Given the description of an element on the screen output the (x, y) to click on. 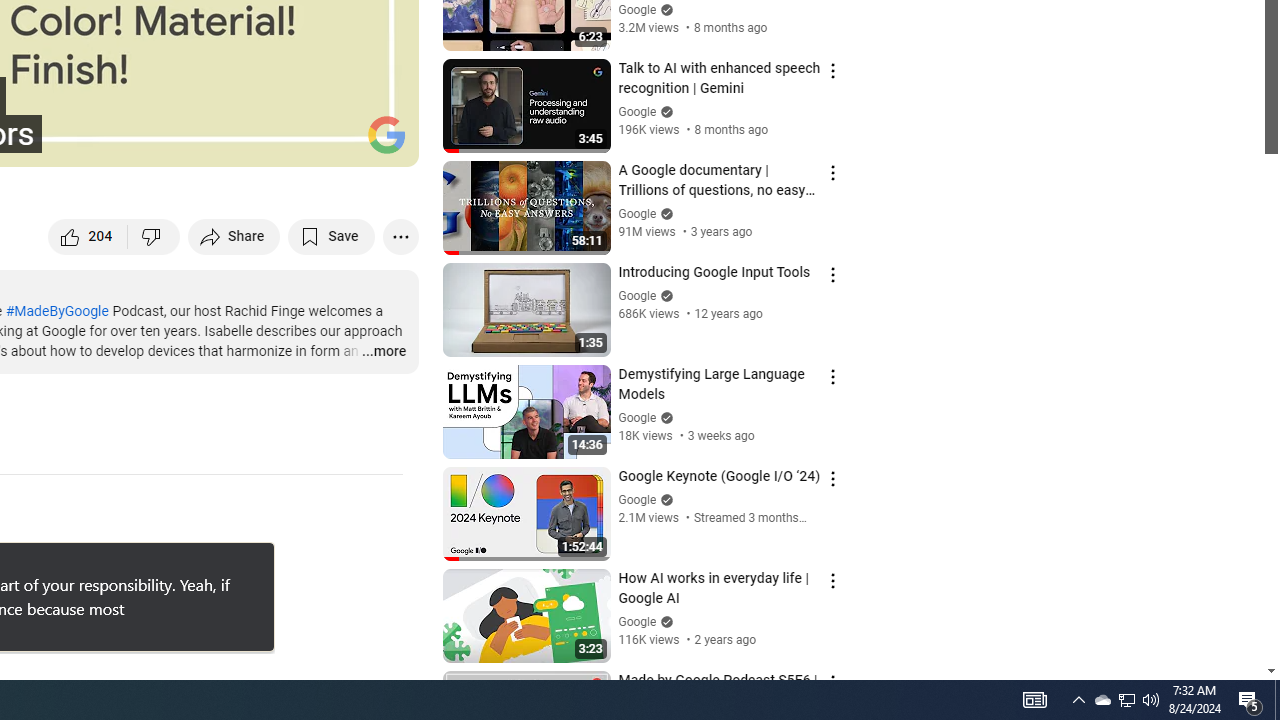
Turn off Live Caption for now (255, 560)
#MadeByGoogle (56, 311)
Share (1126, 699)
Subtitles/closed captions unavailable (234, 236)
User Promoted Notification Area (190, 142)
like this video along with 204 other people (1126, 699)
Full screen (f) (88, 236)
Autoplay is on (382, 142)
Action Center, 5 new notifications (141, 142)
More actions (1250, 699)
Notification Chevron (399, 236)
Theater mode (t) (1078, 699)
